Given the description of an element on the screen output the (x, y) to click on. 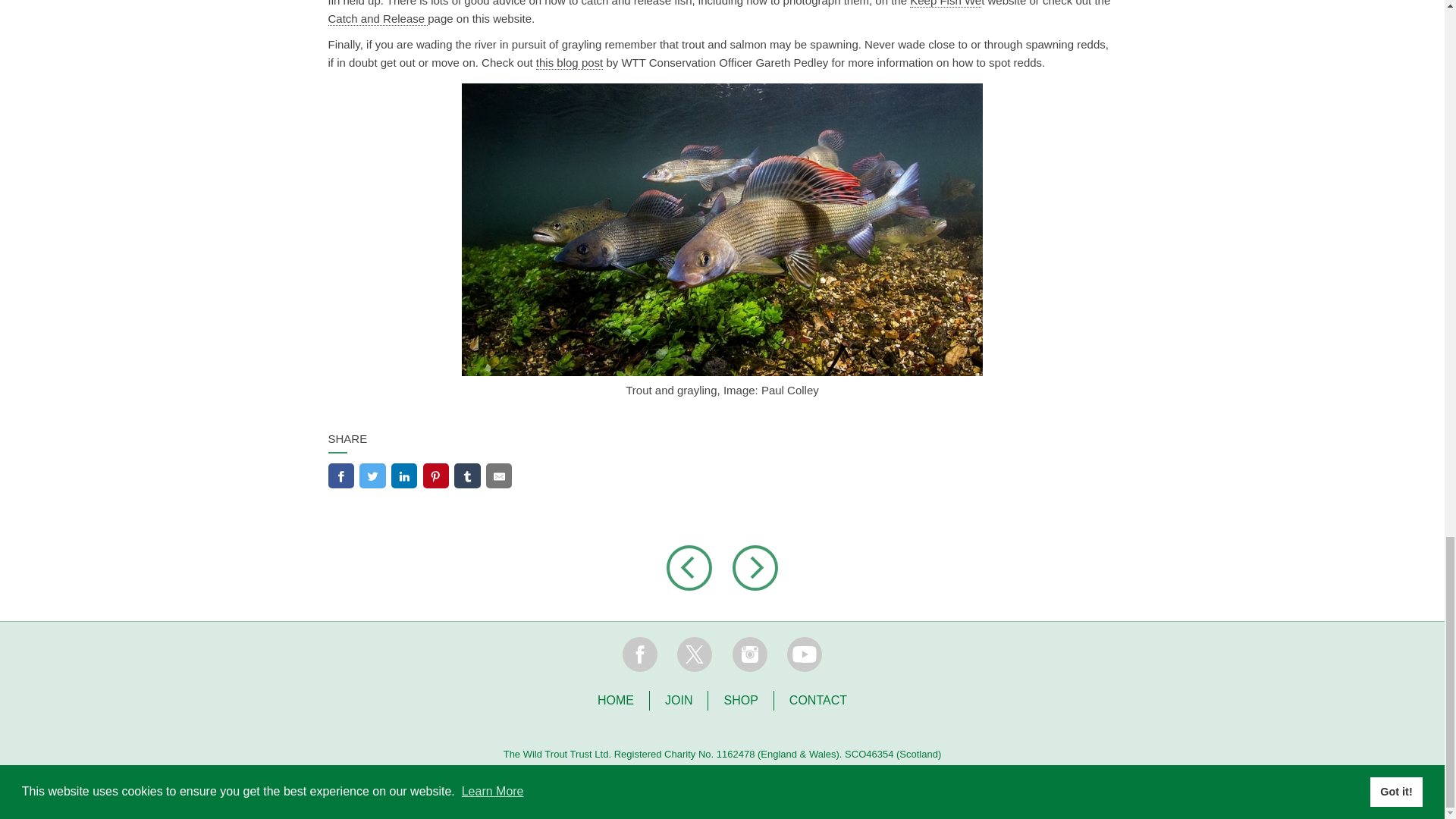
Next (754, 567)
Previous (697, 567)
